Given the description of an element on the screen output the (x, y) to click on. 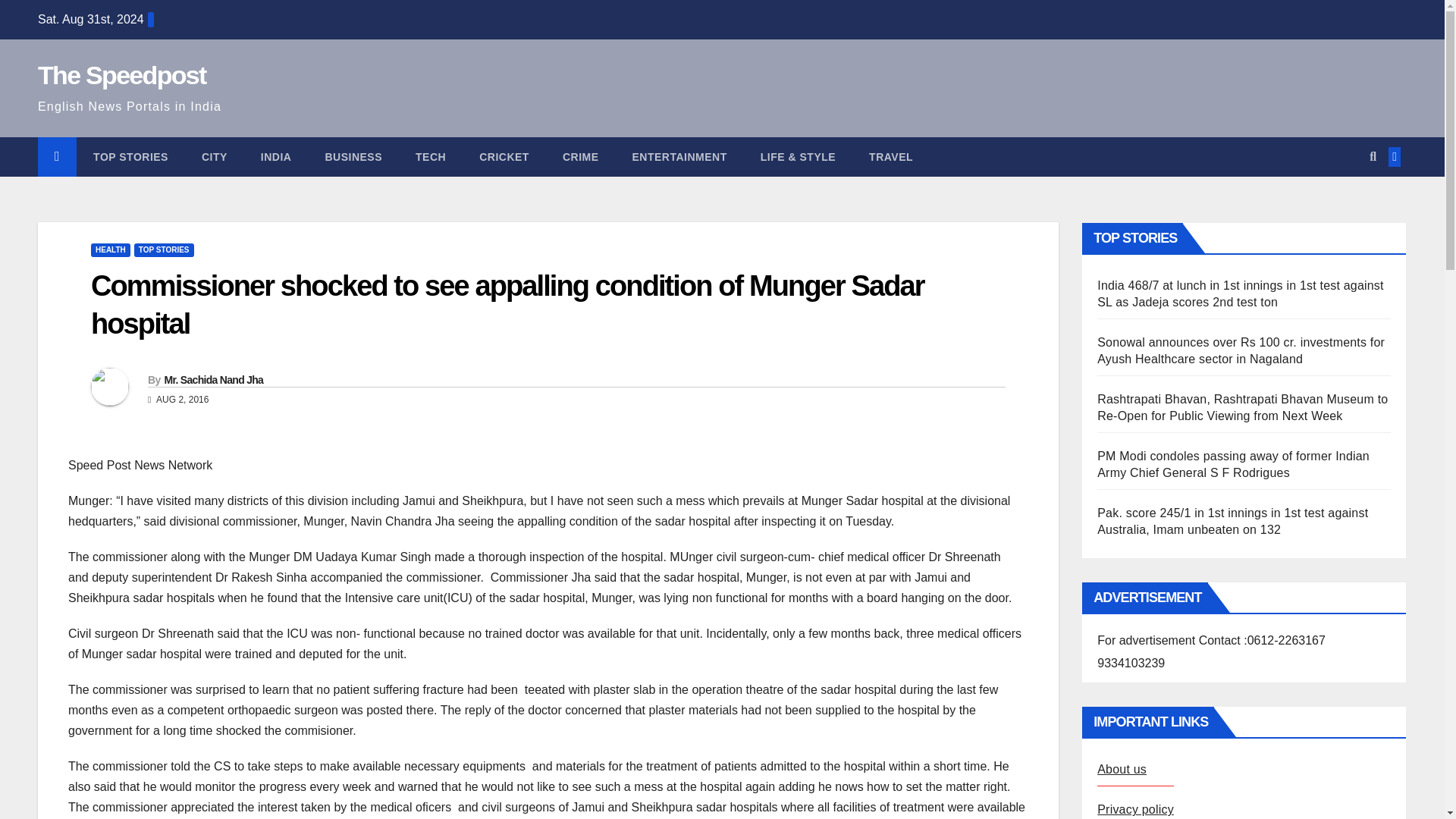
Crime (580, 156)
Mr. Sachida Nand Jha (213, 379)
Top Stories (130, 156)
India (276, 156)
CITY (214, 156)
Travel (890, 156)
Cricket (504, 156)
BUSINESS (352, 156)
City (214, 156)
